Given the description of an element on the screen output the (x, y) to click on. 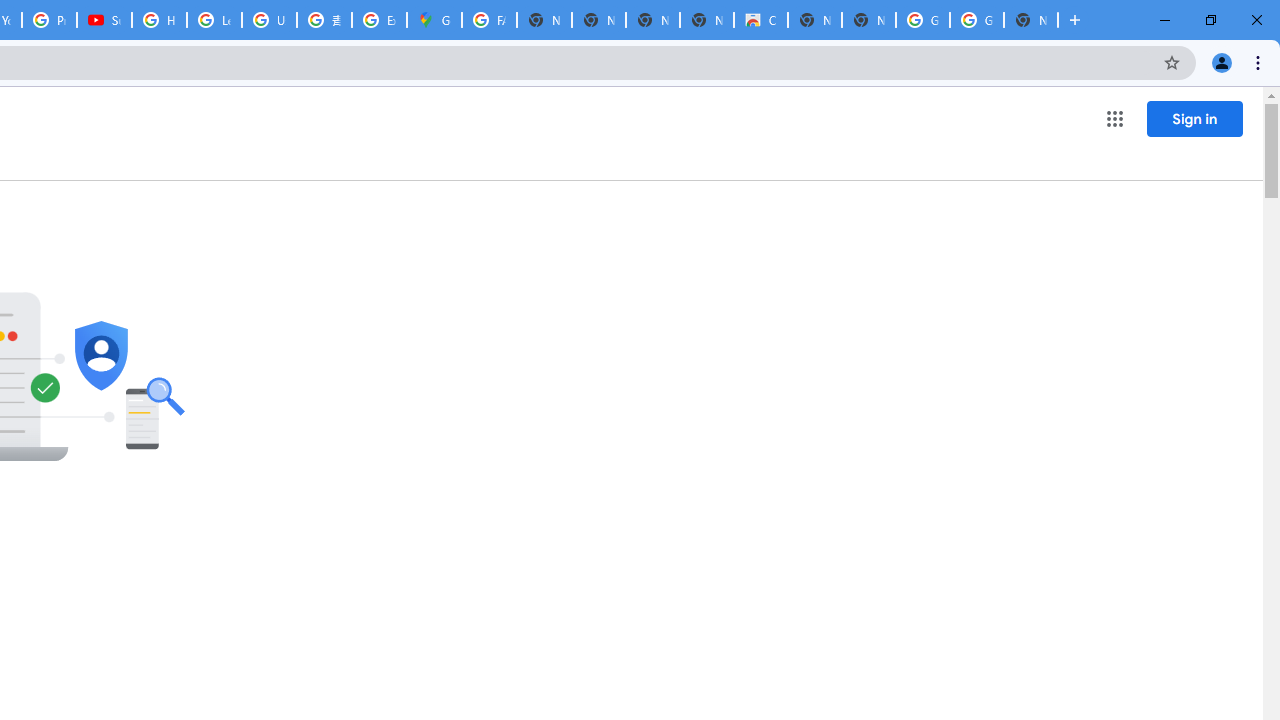
Chrome Web Store (760, 20)
Google Maps (434, 20)
Subscriptions - YouTube (103, 20)
